Given the description of an element on the screen output the (x, y) to click on. 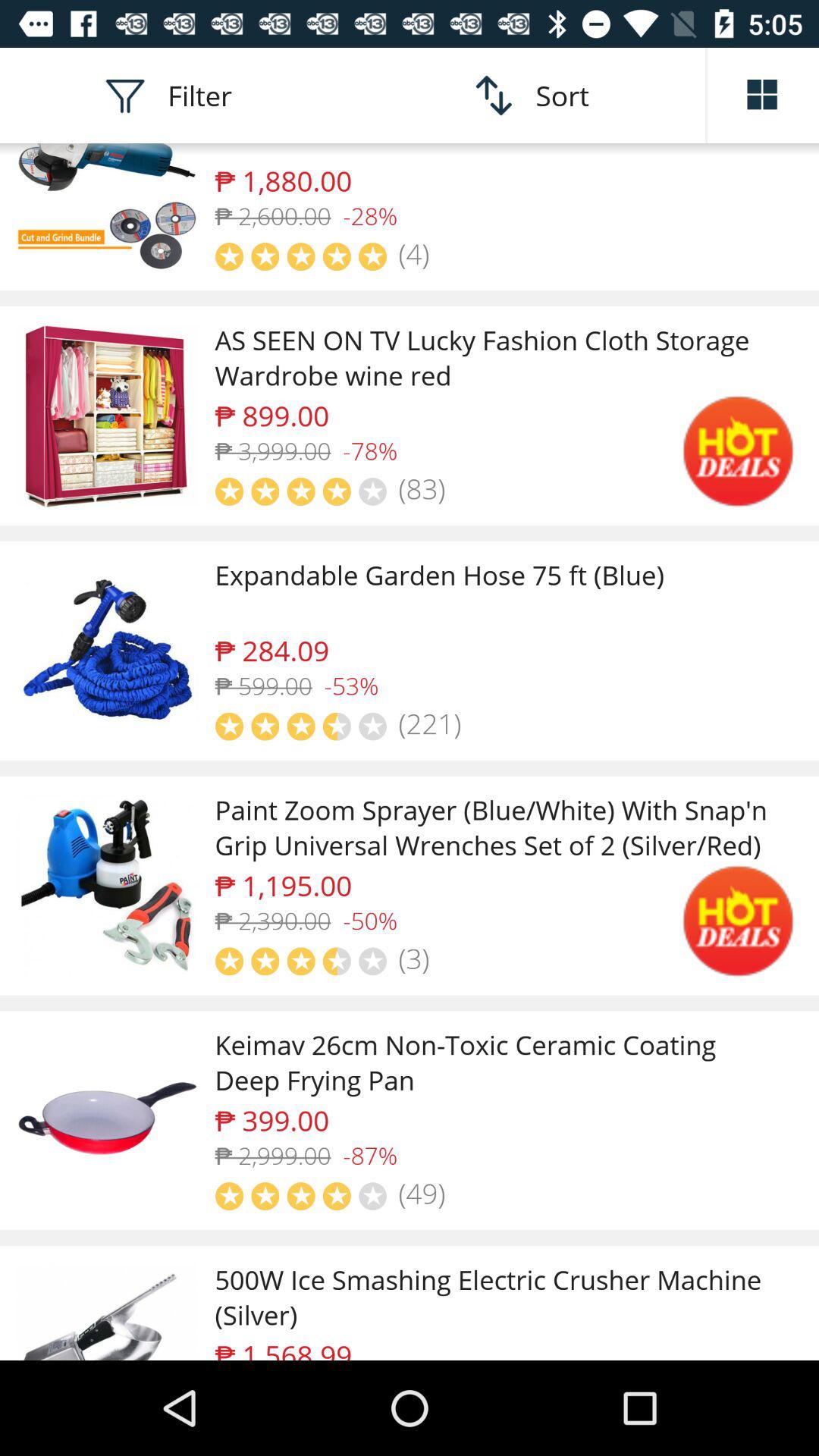
launch the item above bosch gws 060 (763, 95)
